Given the description of an element on the screen output the (x, y) to click on. 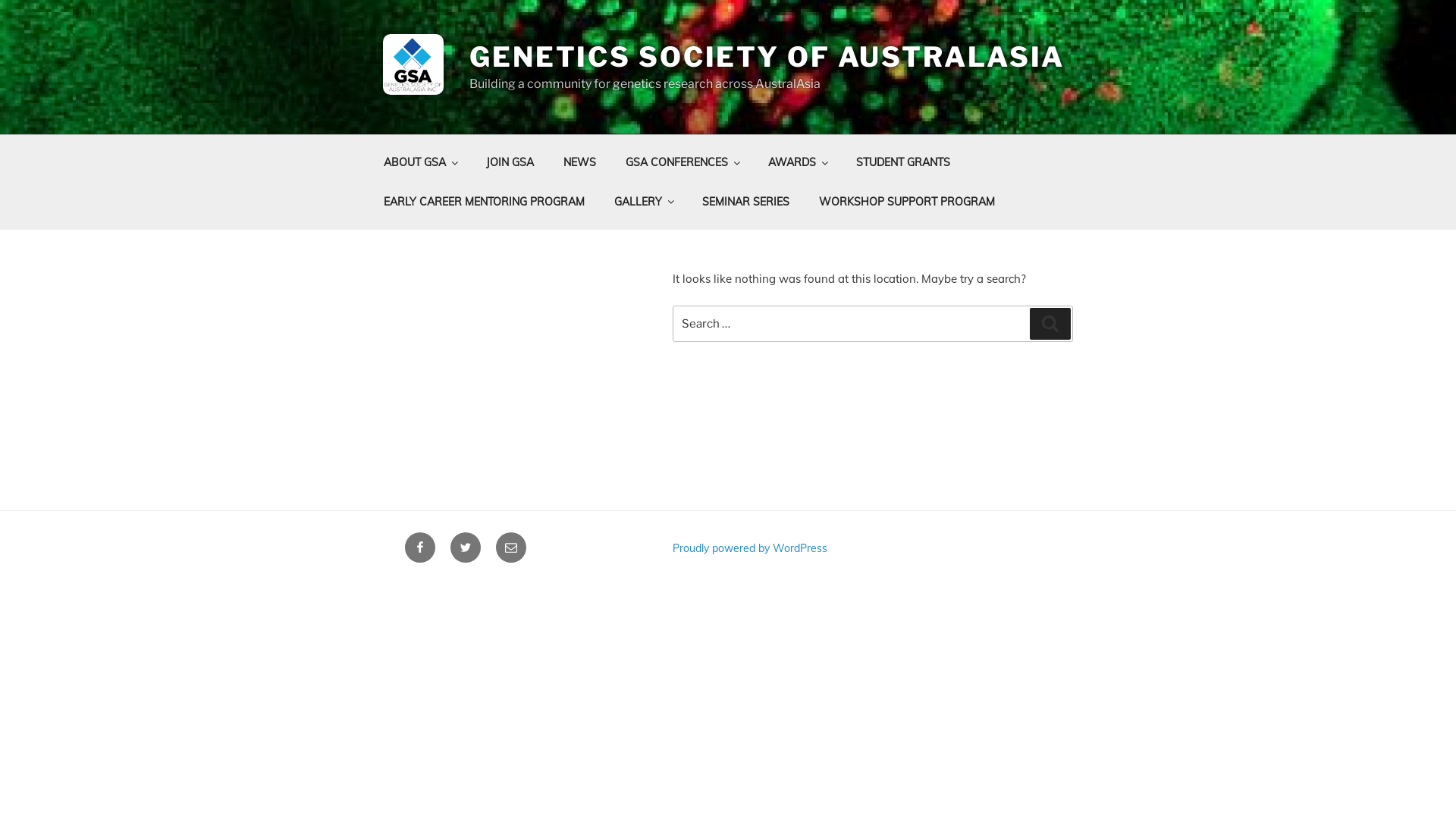
NEWS Element type: text (578, 162)
WORKSHOP SUPPORT PROGRAM Element type: text (906, 201)
Facebook Element type: text (419, 547)
ABOUT GSA Element type: text (419, 162)
Proudly powered by WordPress Element type: text (749, 548)
STUDENT GRANTS Element type: text (902, 162)
EARLY CAREER MENTORING PROGRAM Element type: text (483, 201)
Search Element type: text (1049, 323)
GALLERY Element type: text (642, 201)
Twitter Element type: text (465, 547)
JOIN GSA Element type: text (509, 162)
GSA CONFERENCES Element type: text (681, 162)
Email Element type: text (510, 547)
SEMINAR SERIES Element type: text (745, 201)
GENETICS SOCIETY OF AUSTRALASIA Element type: text (766, 56)
AWARDS Element type: text (796, 162)
